Given the description of an element on the screen output the (x, y) to click on. 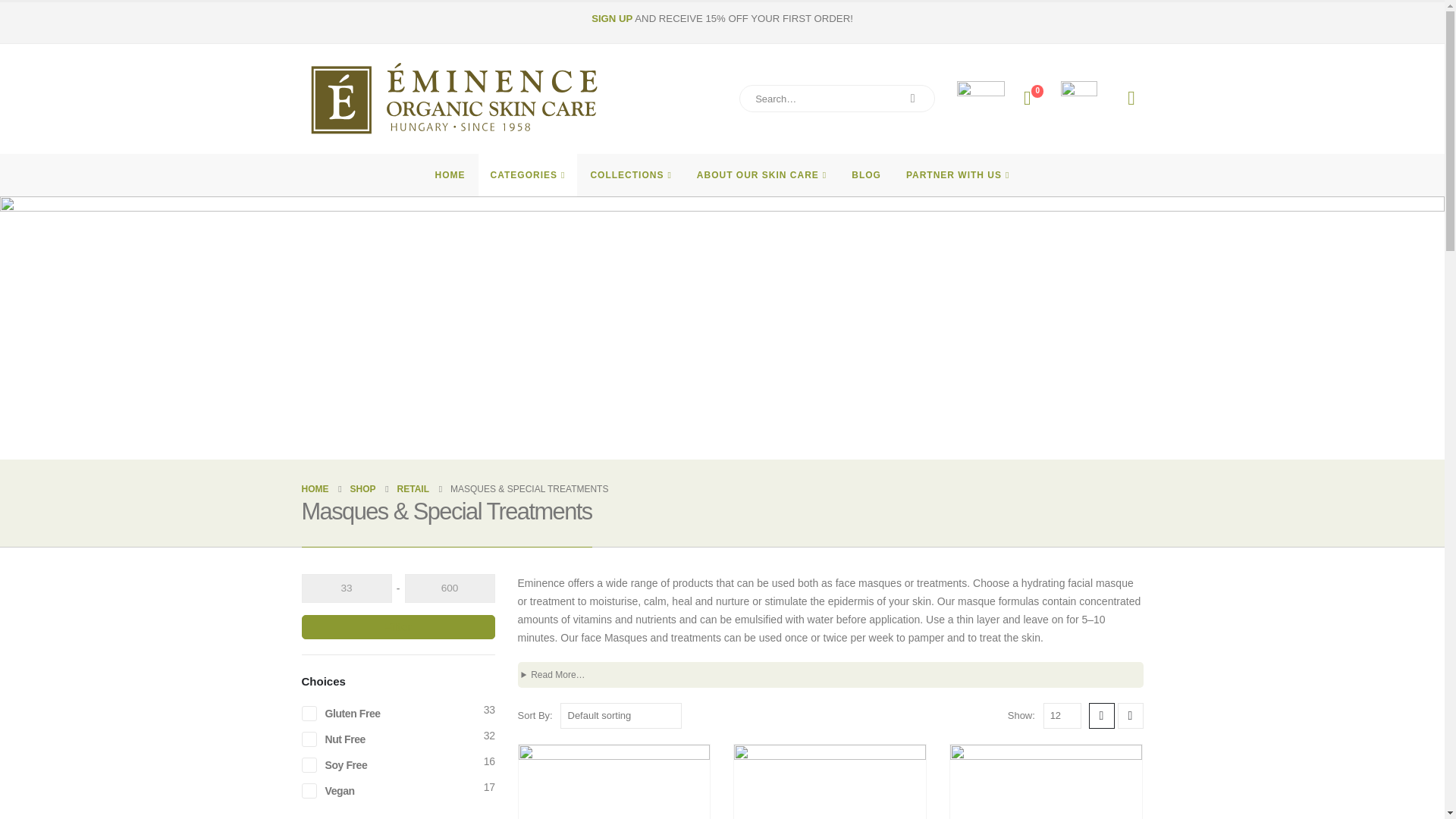
Find a Spa (980, 98)
Grid View (1102, 715)
Go to Home Page (315, 488)
List View (1130, 715)
SIGN UP (611, 18)
My Account (1130, 98)
0 (1026, 98)
Search (912, 98)
Wishlist (1026, 98)
Eminence Organics Australia - Eminence Organics Australia (453, 98)
